Given the description of an element on the screen output the (x, y) to click on. 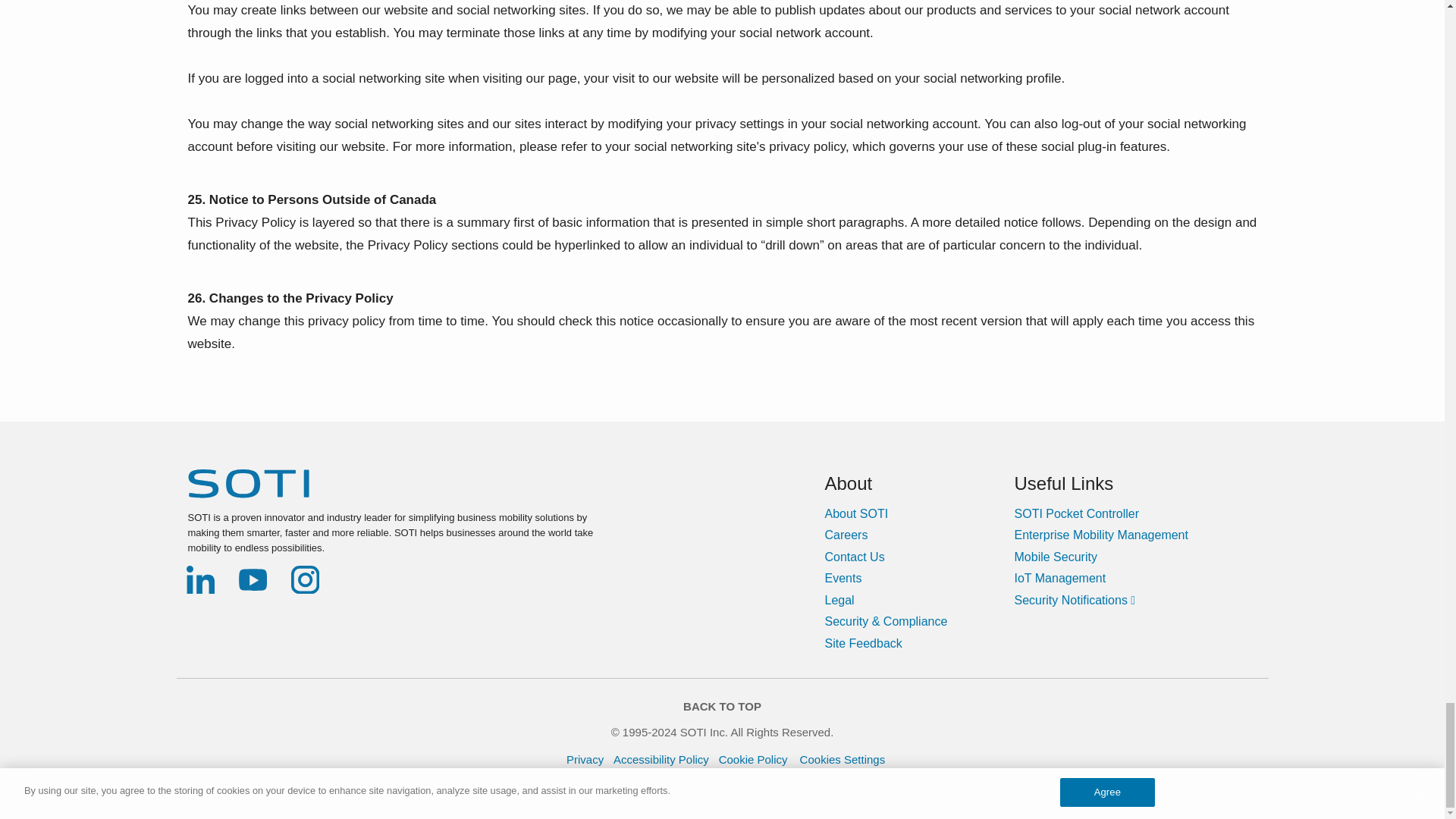
SOTI Inc. Logo (247, 483)
Instagram Logo (304, 579)
LinkedIn Logo (200, 579)
YouTube Logo (252, 579)
